Given the description of an element on the screen output the (x, y) to click on. 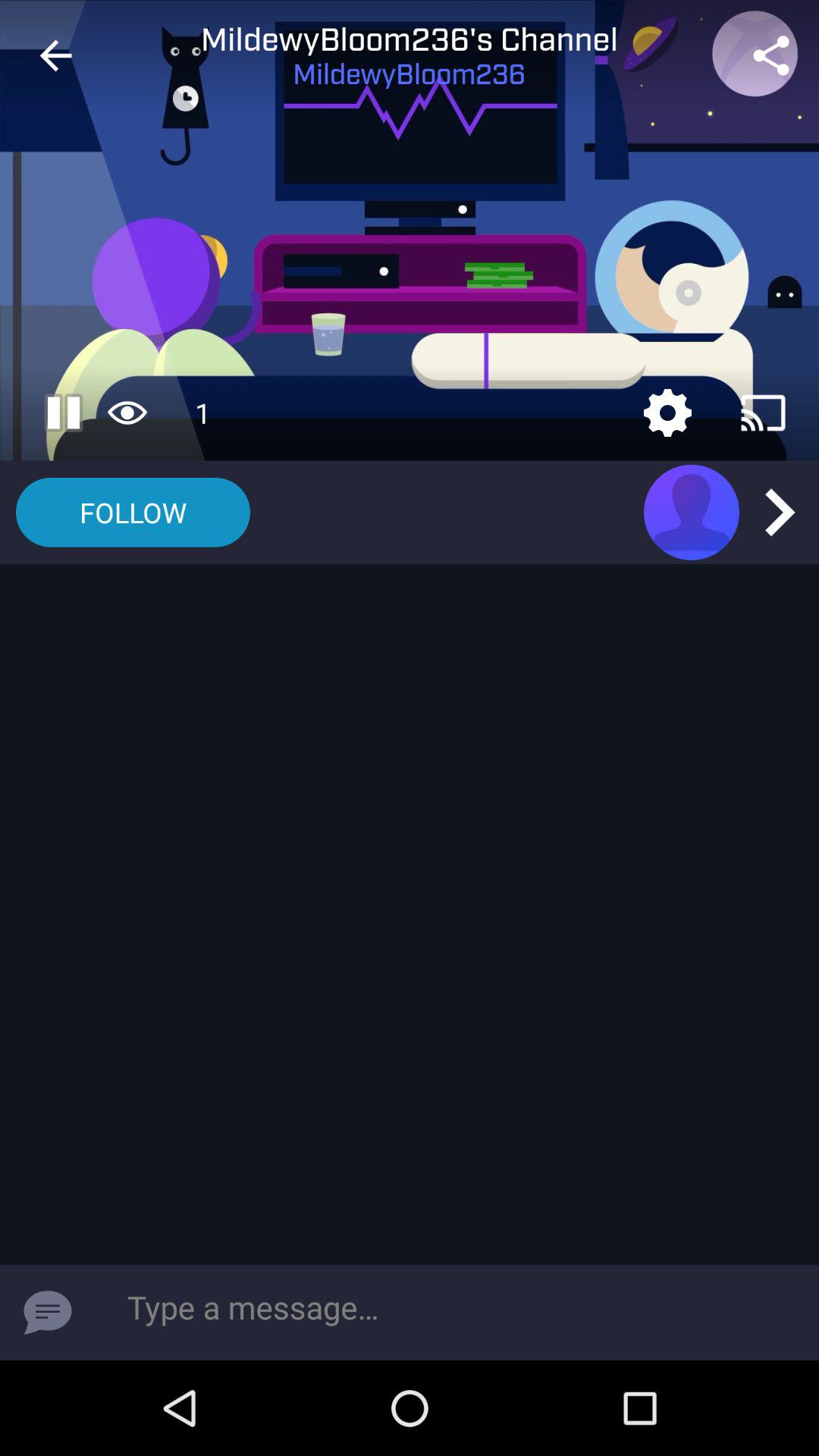
tap the item next to mildewybloom236's channel icon (55, 55)
